Given the description of an element on the screen output the (x, y) to click on. 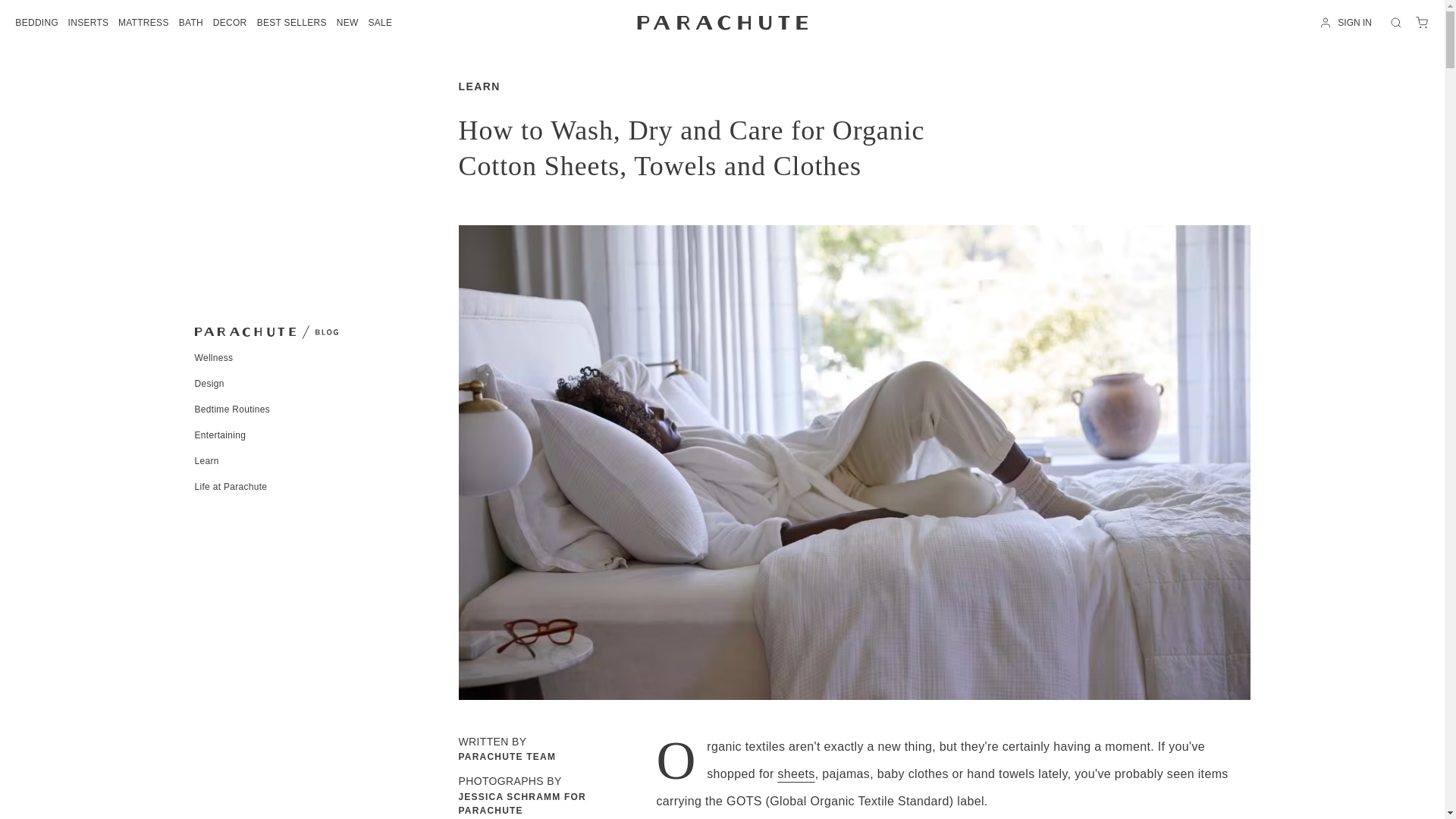
Wellness (212, 357)
Bedtime Routines (231, 409)
INSERTS (86, 22)
Design (208, 383)
BEDDING (36, 22)
DECOR (229, 22)
Learn (205, 460)
SIGN IN (1348, 22)
MATTRESS (143, 22)
Entertaining (219, 434)
